Given the description of an element on the screen output the (x, y) to click on. 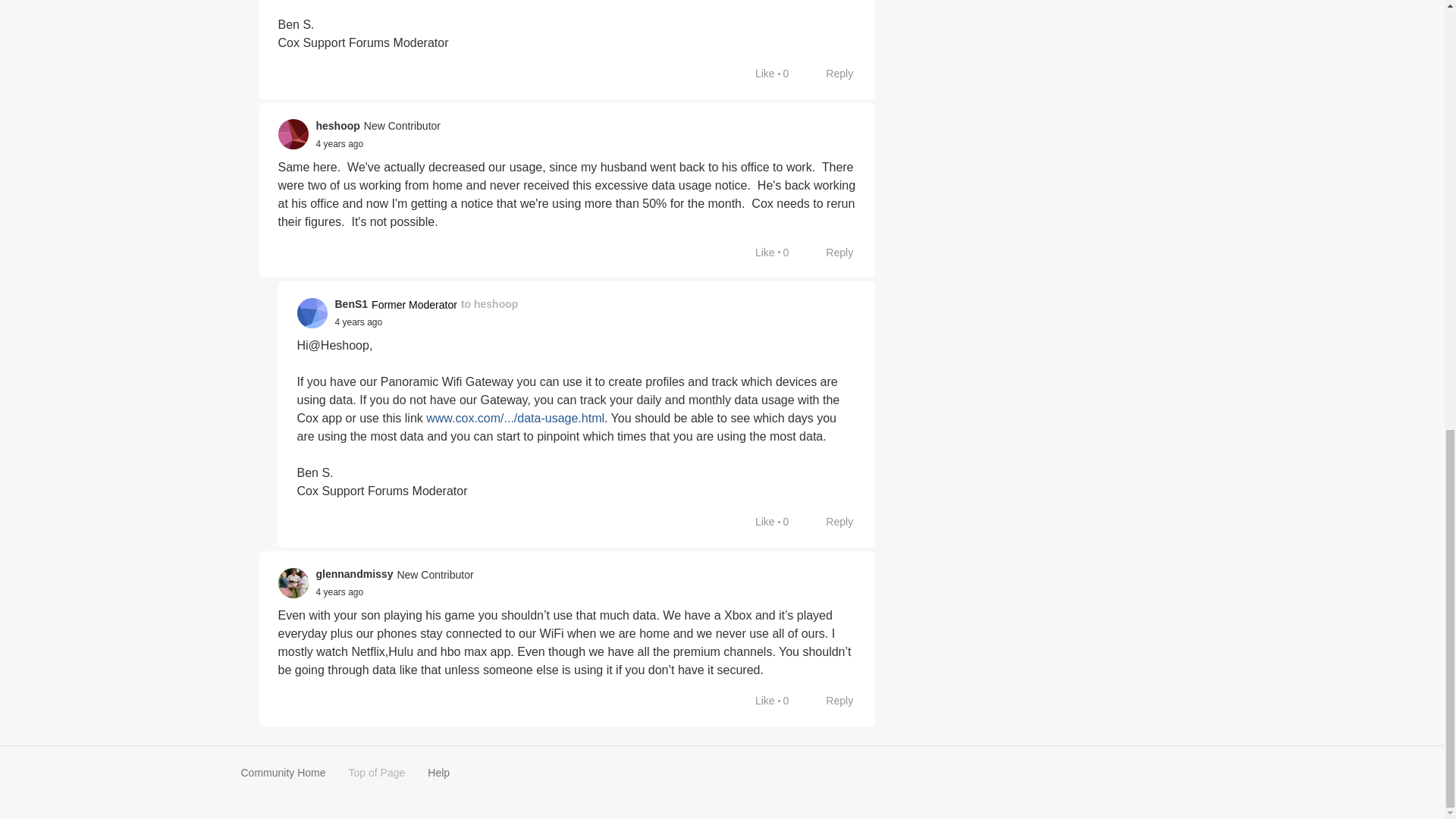
February 10, 2021 at 4:55 PM (358, 321)
February 24, 2021 at 10:47 PM (338, 592)
February 10, 2021 at 7:29 AM (338, 143)
